Given the description of an element on the screen output the (x, y) to click on. 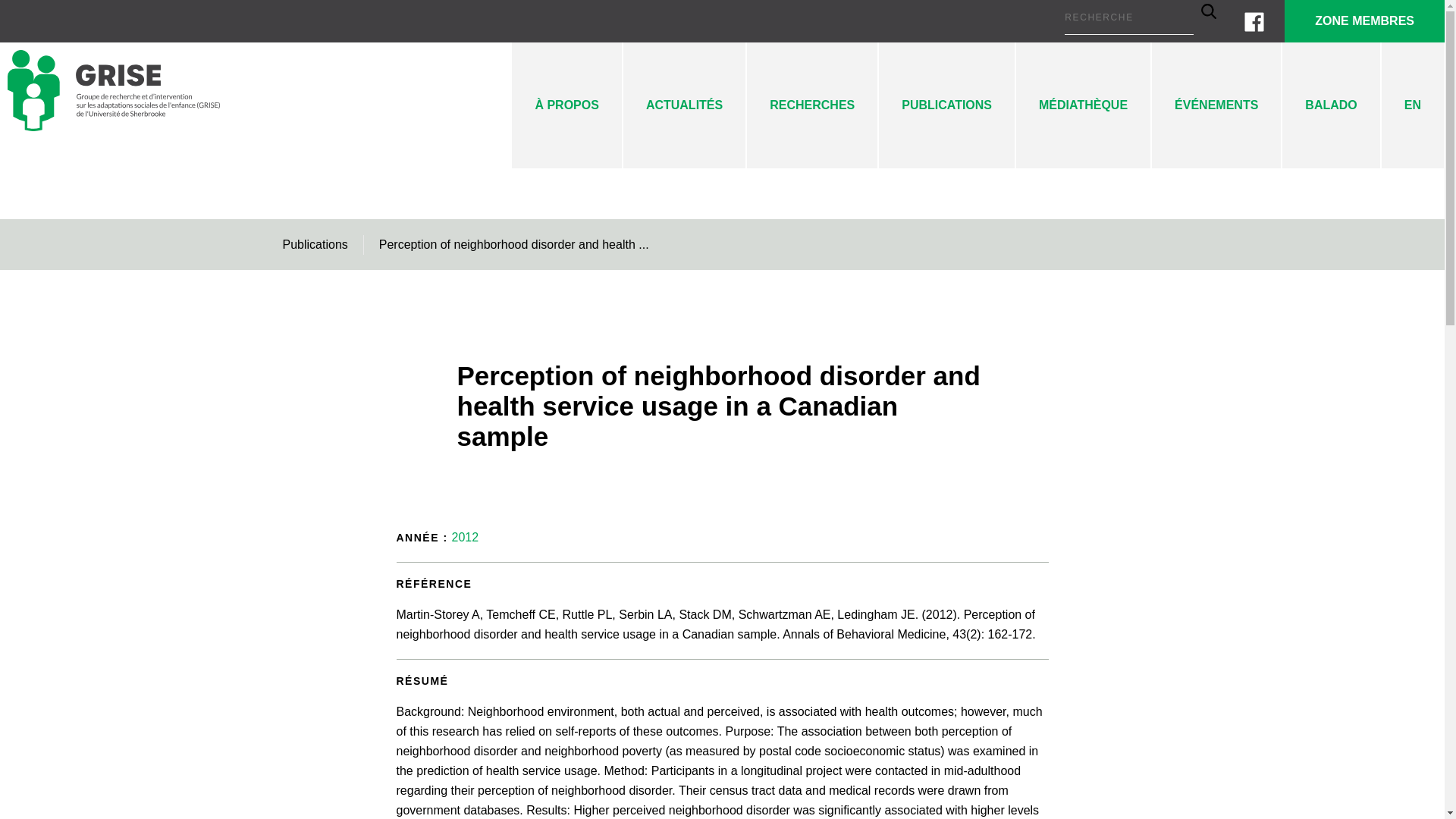
PUBLICATIONS (946, 105)
Grise (113, 130)
RECHERCHES (811, 105)
2012 (465, 536)
Publications (314, 244)
Facebook (1254, 21)
